Given the description of an element on the screen output the (x, y) to click on. 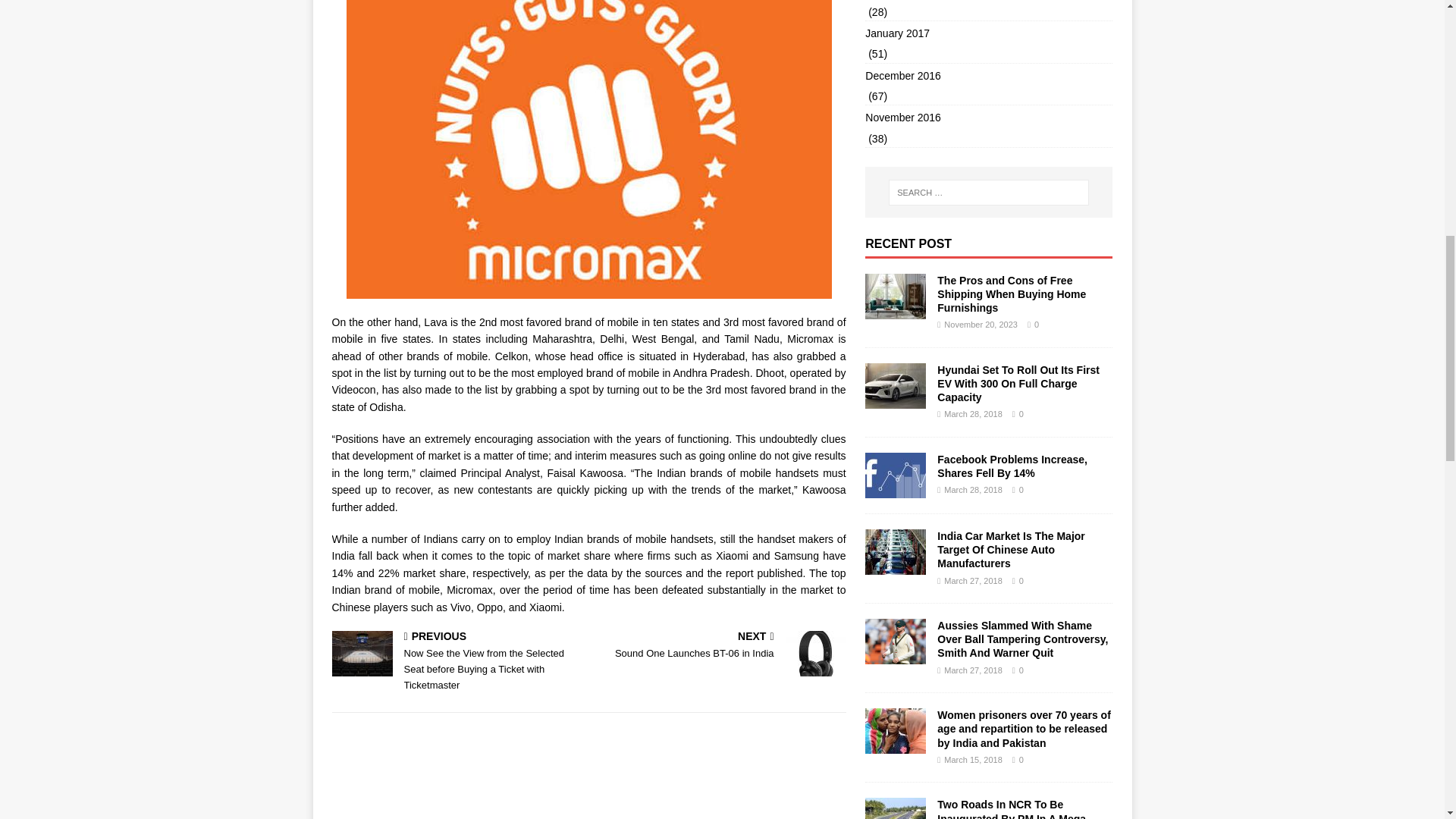
November 2016 (988, 117)
February 2017 (988, 1)
December 2016 (720, 645)
January 2017 (988, 75)
